Given the description of an element on the screen output the (x, y) to click on. 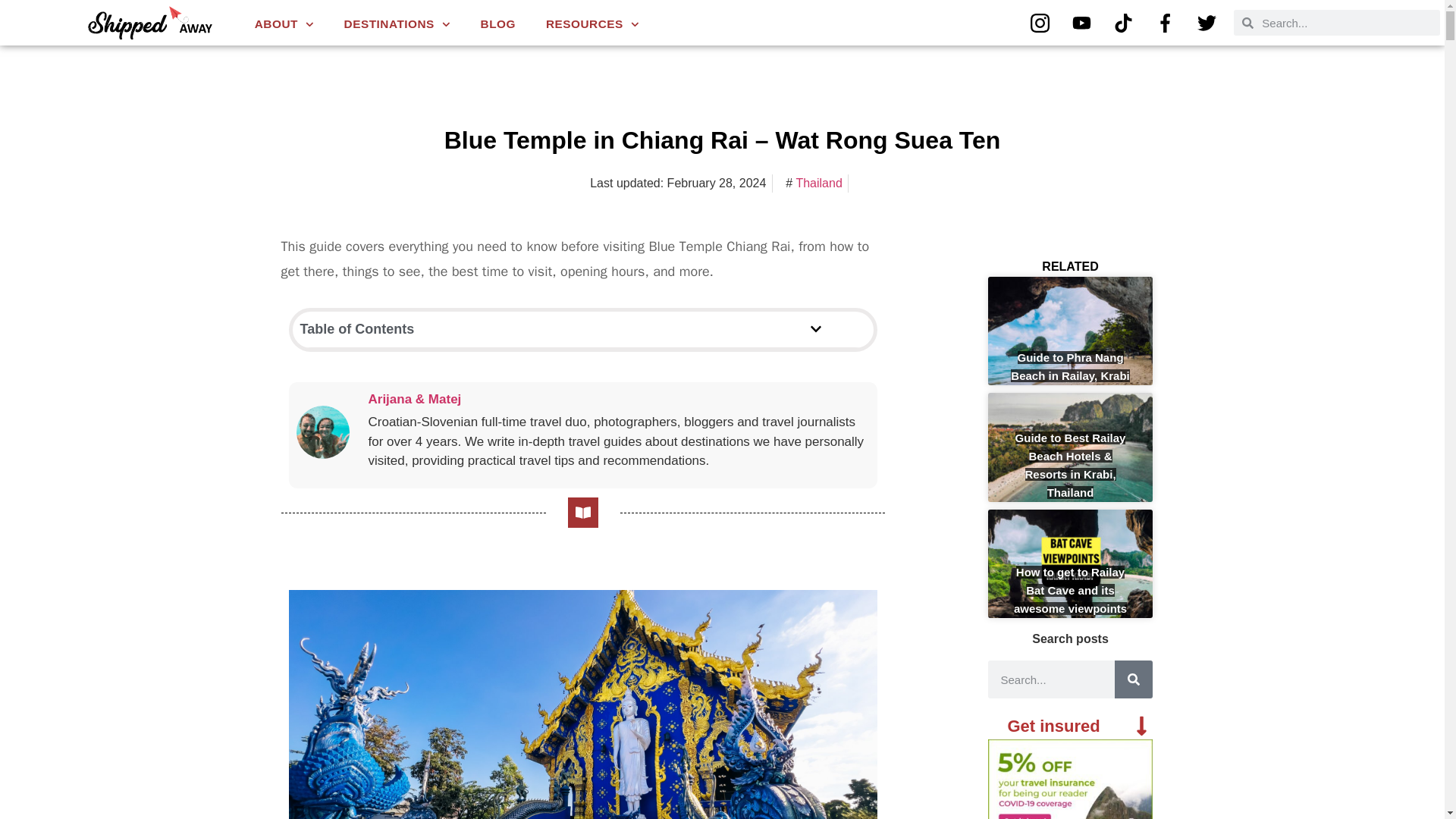
DESTINATIONS (397, 23)
RESOURCES (592, 23)
ABOUT (284, 23)
BLOG (498, 23)
